Given the description of an element on the screen output the (x, y) to click on. 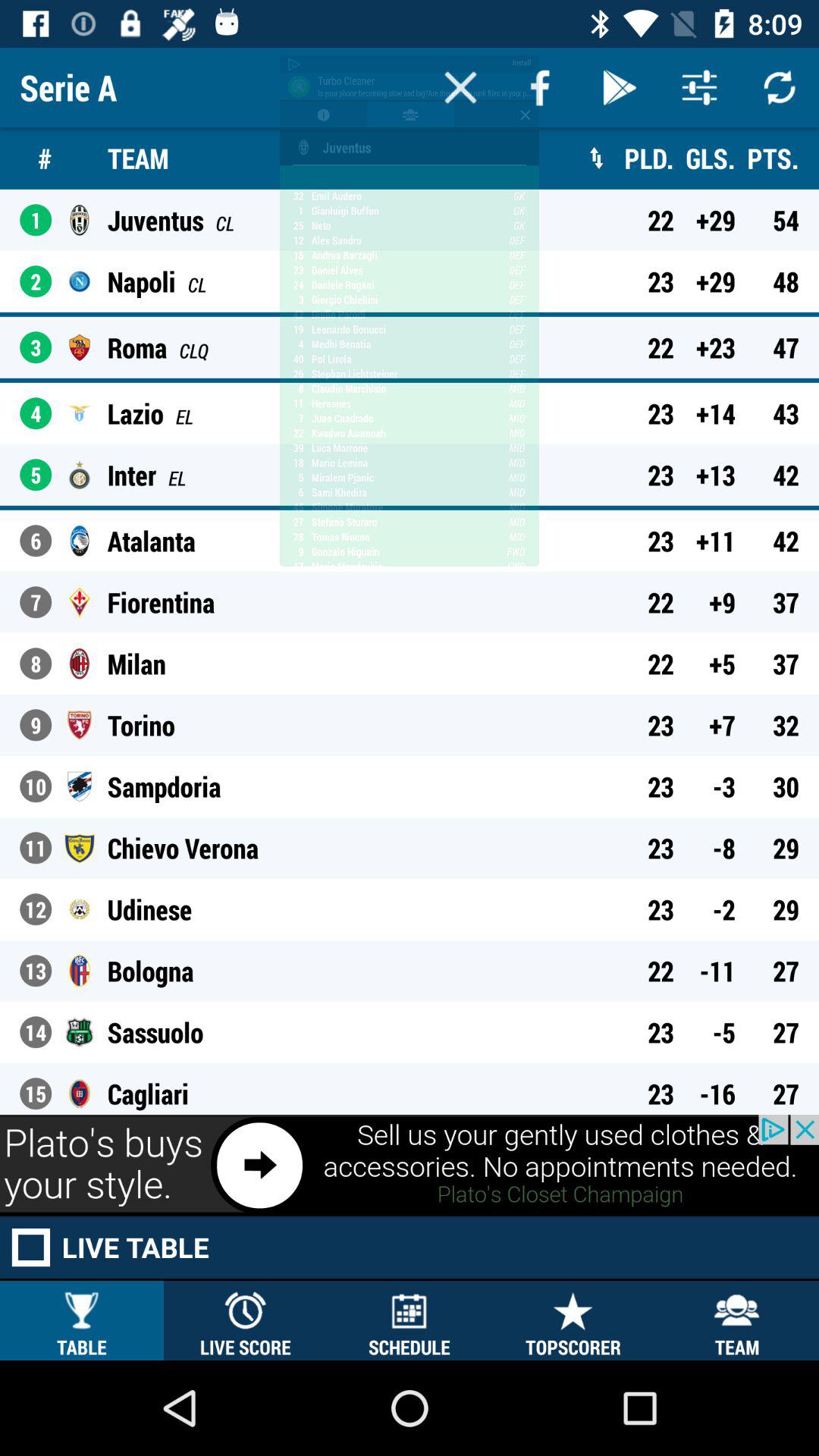
click on third logo from bottom (79, 971)
